Given the description of an element on the screen output the (x, y) to click on. 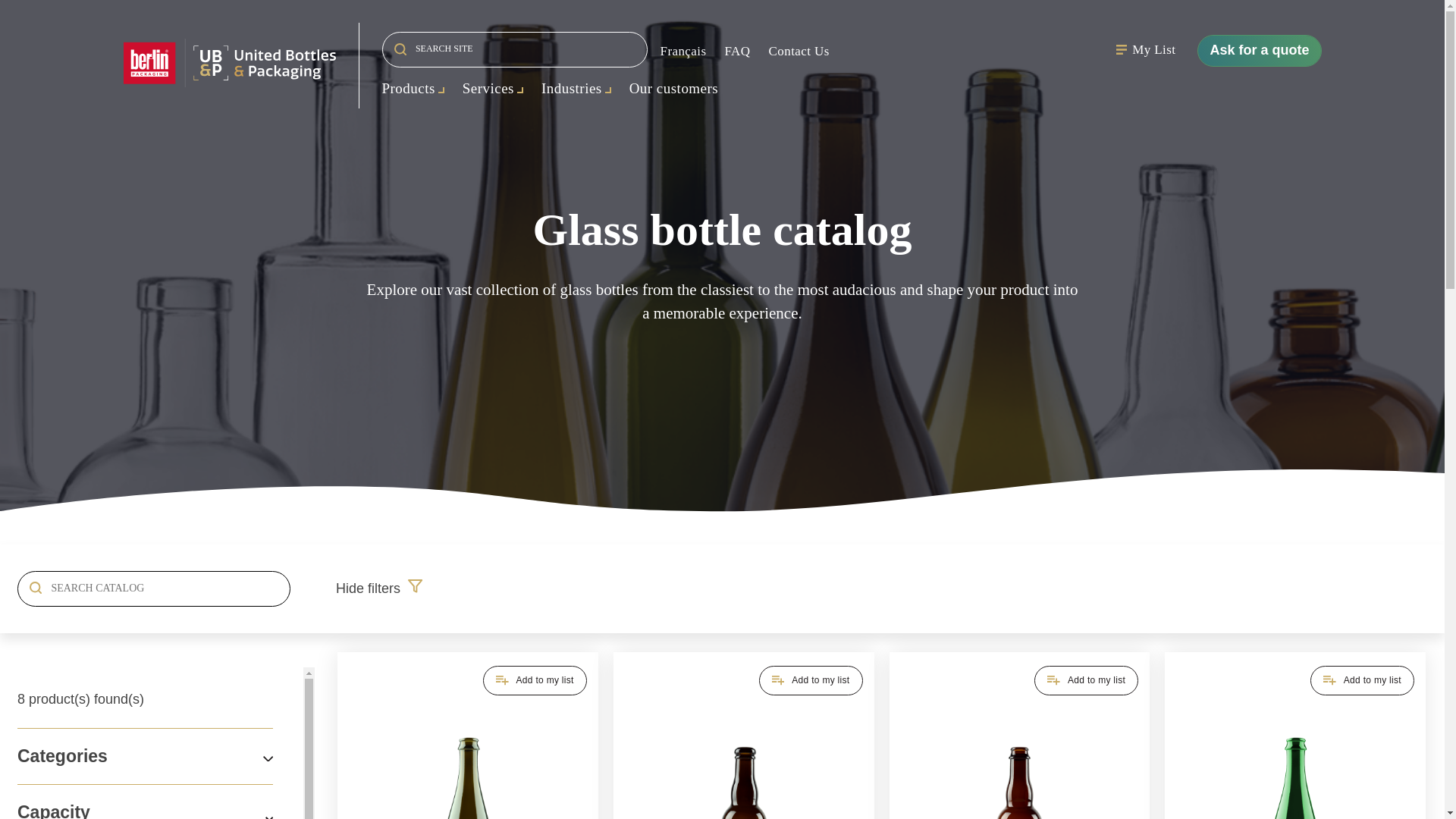
FAQ (738, 51)
Products (412, 88)
Our customers (674, 88)
My List (1145, 49)
Contact Us (799, 51)
Industries (576, 88)
Ask for a quote (1258, 50)
Services (492, 88)
